Given the description of an element on the screen output the (x, y) to click on. 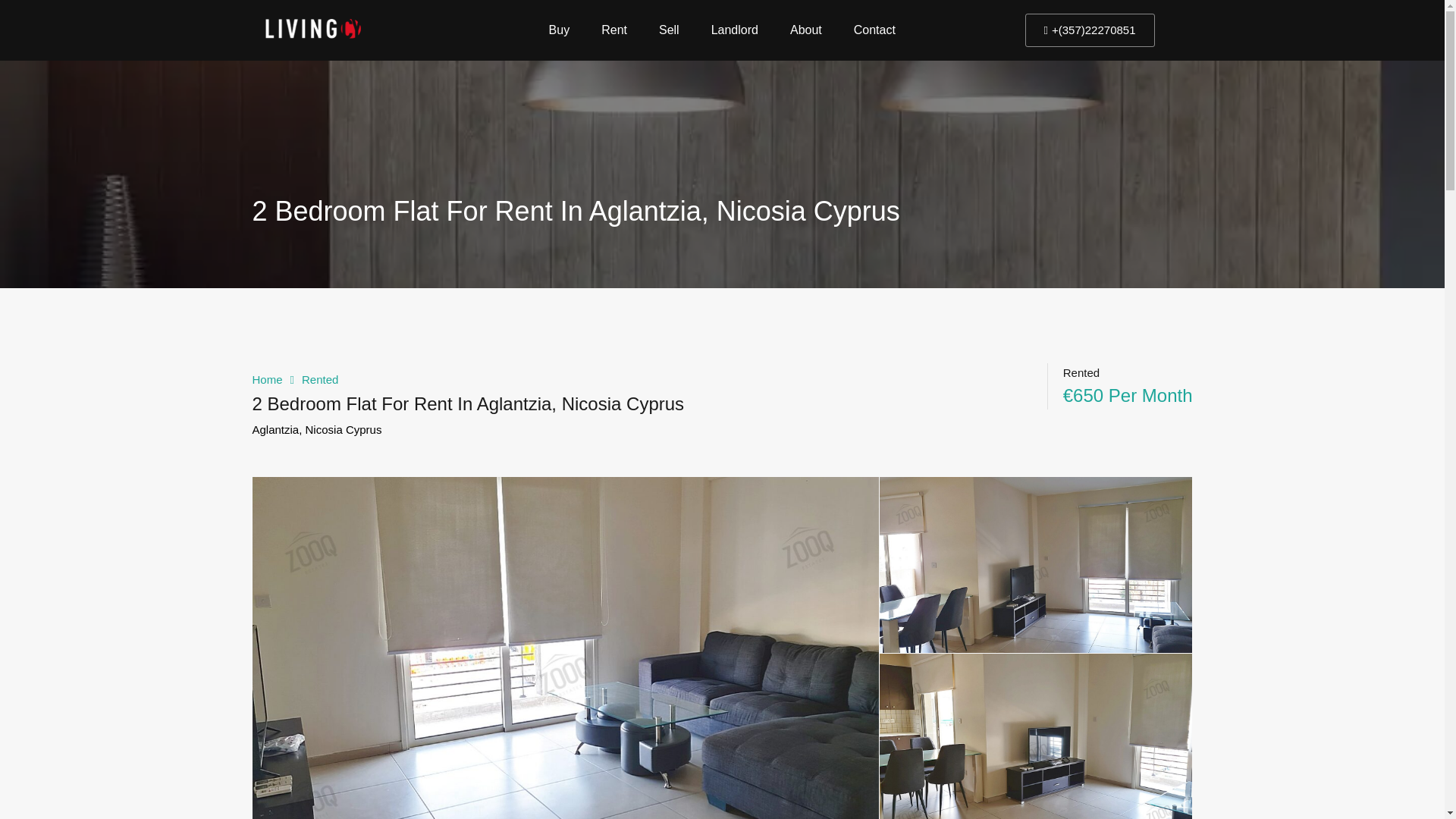
Rented (319, 379)
Landlord (734, 30)
About (806, 30)
Home (266, 379)
Sell (669, 30)
Rent (614, 30)
Buy (559, 30)
Contact (874, 30)
